Given the description of an element on the screen output the (x, y) to click on. 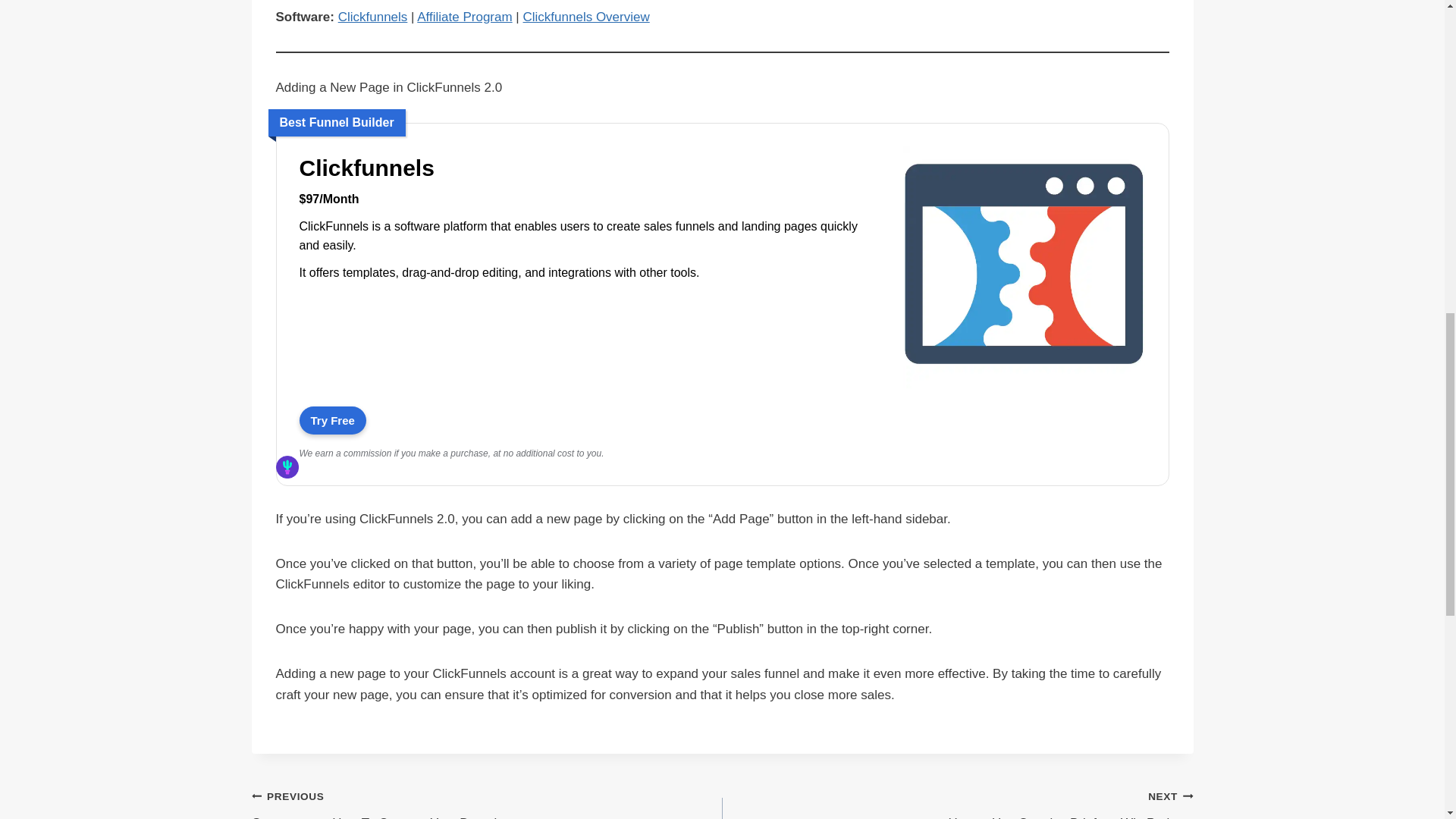
Clickfunnels (1023, 387)
Clickfunnels (372, 16)
Affiliate Program (464, 16)
Clickfunnels (588, 167)
Try Free (331, 420)
Clickfunnels (331, 420)
Adding A New Page In Clickfunnels 2.0 1 (1023, 267)
Clickfunnels Overview (585, 16)
Clickfunnels (957, 802)
Adding A New Page In Clickfunnels 2.0 2 (486, 802)
